Given the description of an element on the screen output the (x, y) to click on. 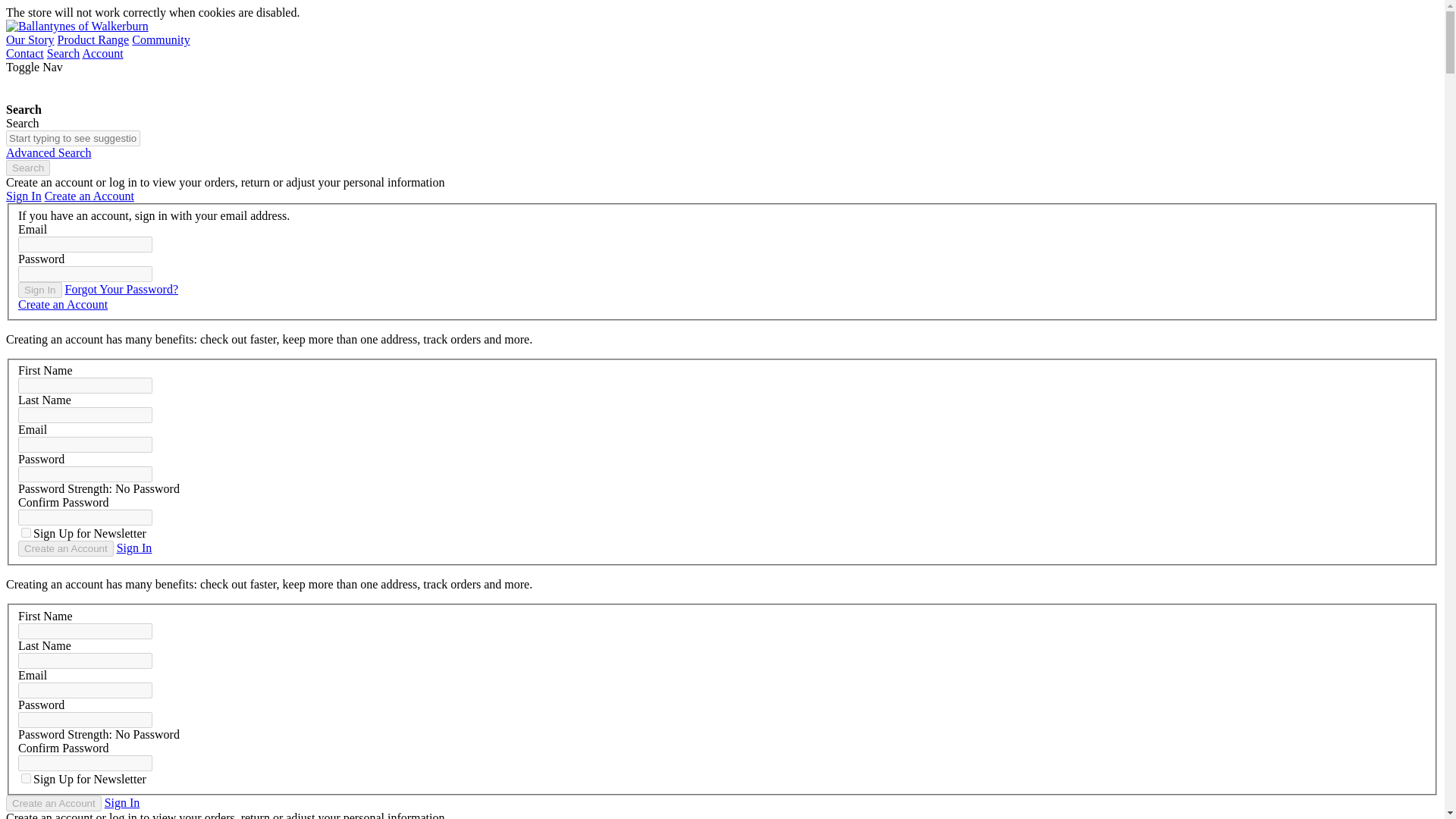
Email (84, 444)
Last Name (84, 660)
First Name (84, 385)
Email (84, 690)
Sign In (39, 289)
Create an Account (53, 803)
Last Name (84, 415)
First Name (84, 631)
Sign Up for Newsletter (25, 532)
Advanced Search (47, 152)
Forgot Your Password? (122, 288)
Confirm Password (84, 517)
1 (25, 777)
Sign In (134, 547)
Sign In (23, 195)
